Given the description of an element on the screen output the (x, y) to click on. 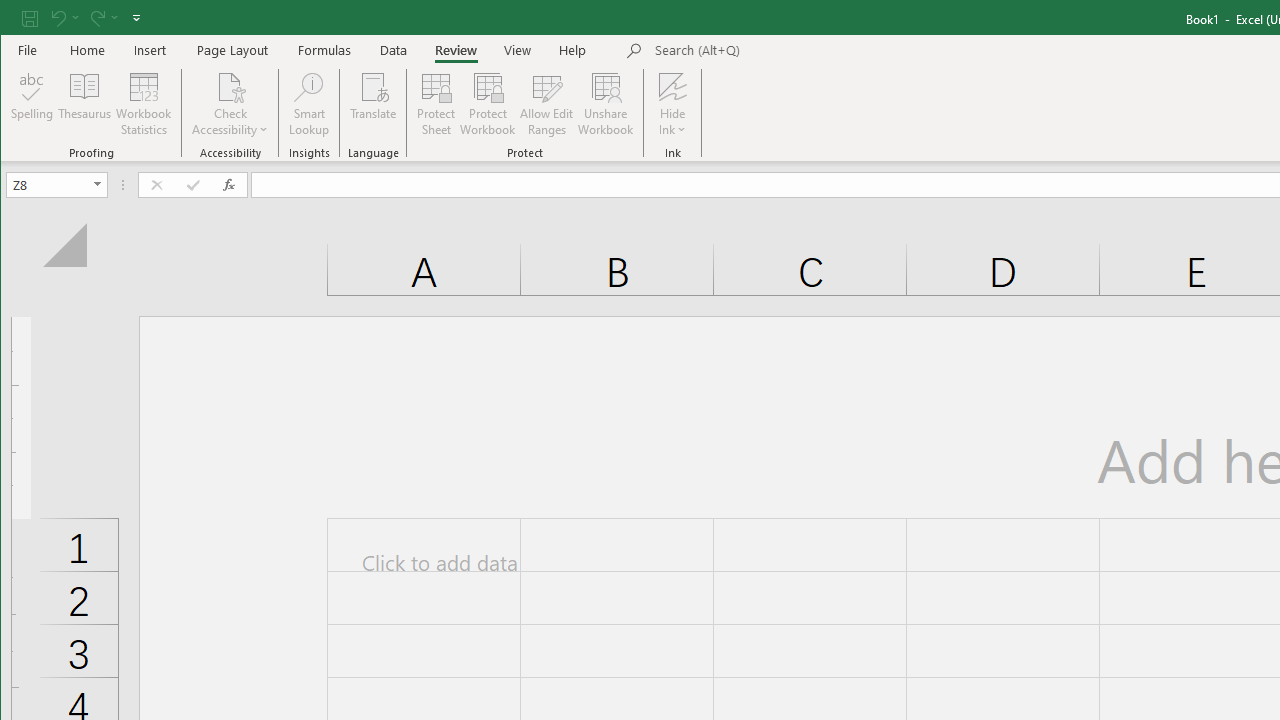
Smart Lookup (308, 104)
Thesaurus... (84, 104)
Unshare Workbook (606, 104)
Translate (373, 104)
Allow Edit Ranges (547, 104)
